Given the description of an element on the screen output the (x, y) to click on. 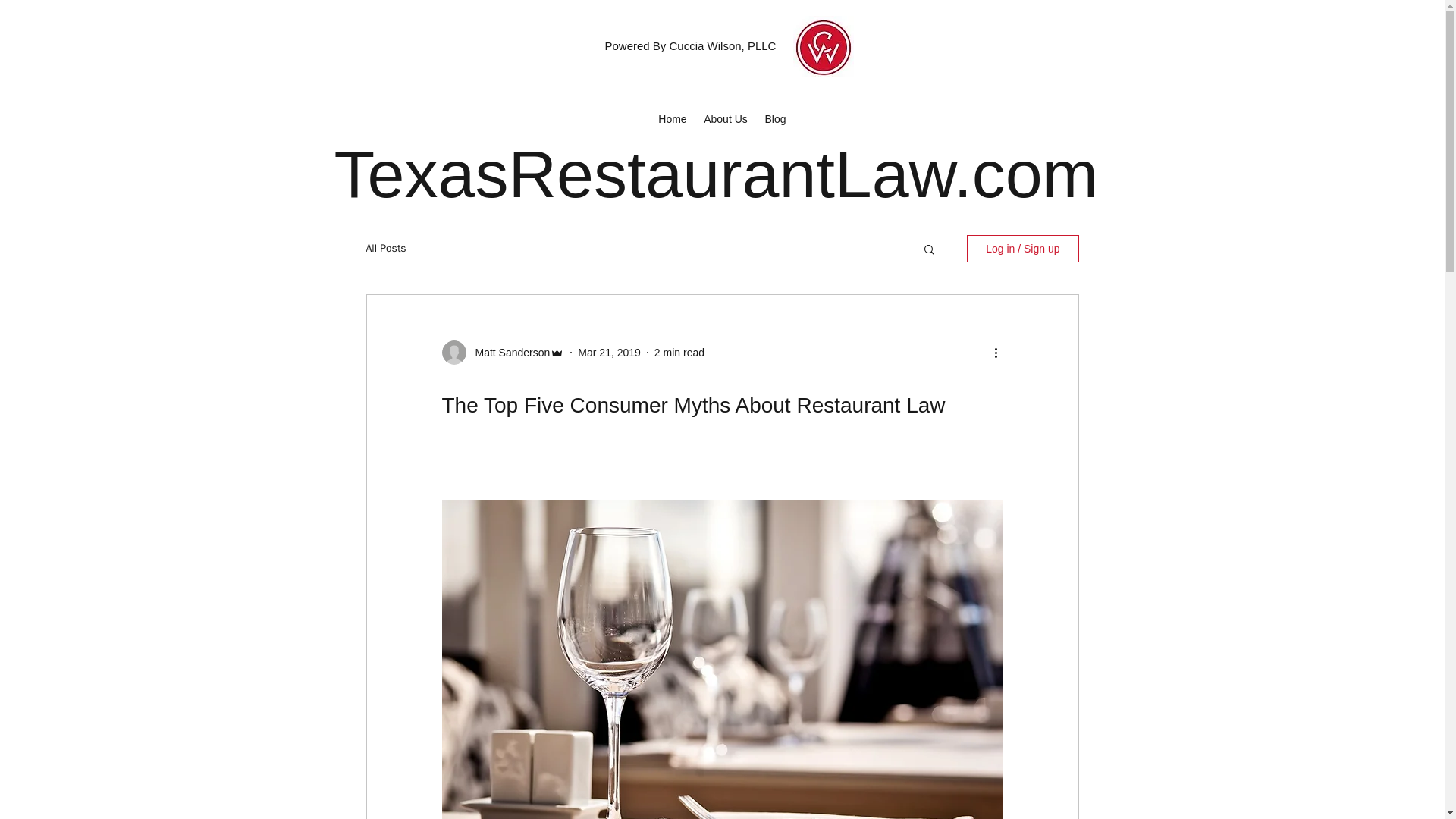
Mar 21, 2019 (609, 351)
Blog (775, 118)
All Posts (385, 248)
Matt Sanderson (507, 351)
Home (672, 118)
2 min read (678, 351)
About Us (724, 118)
